Given the description of an element on the screen output the (x, y) to click on. 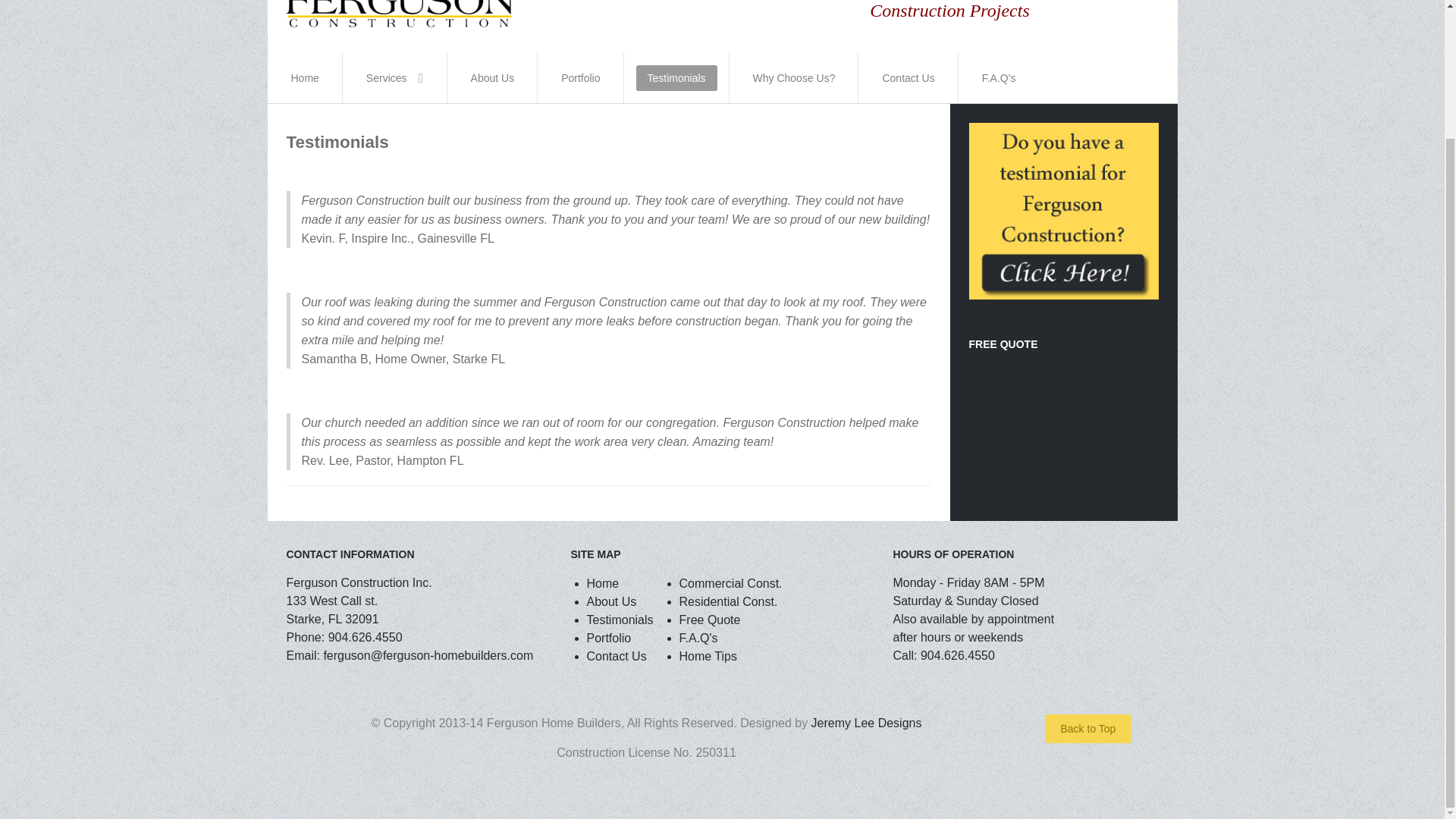
F.A.Q's (999, 77)
Home (304, 77)
Residential Const. (728, 601)
Contact Us (616, 656)
Jeremy Lee Designs (865, 722)
Contact Us (907, 77)
Portfolio (580, 77)
Free Quote (710, 619)
Services (394, 77)
Back to Top (1088, 728)
About Us (492, 77)
Ferguson Construction (399, 13)
Testimonials (676, 77)
Free Quote (710, 619)
Portfolio (608, 637)
